Given the description of an element on the screen output the (x, y) to click on. 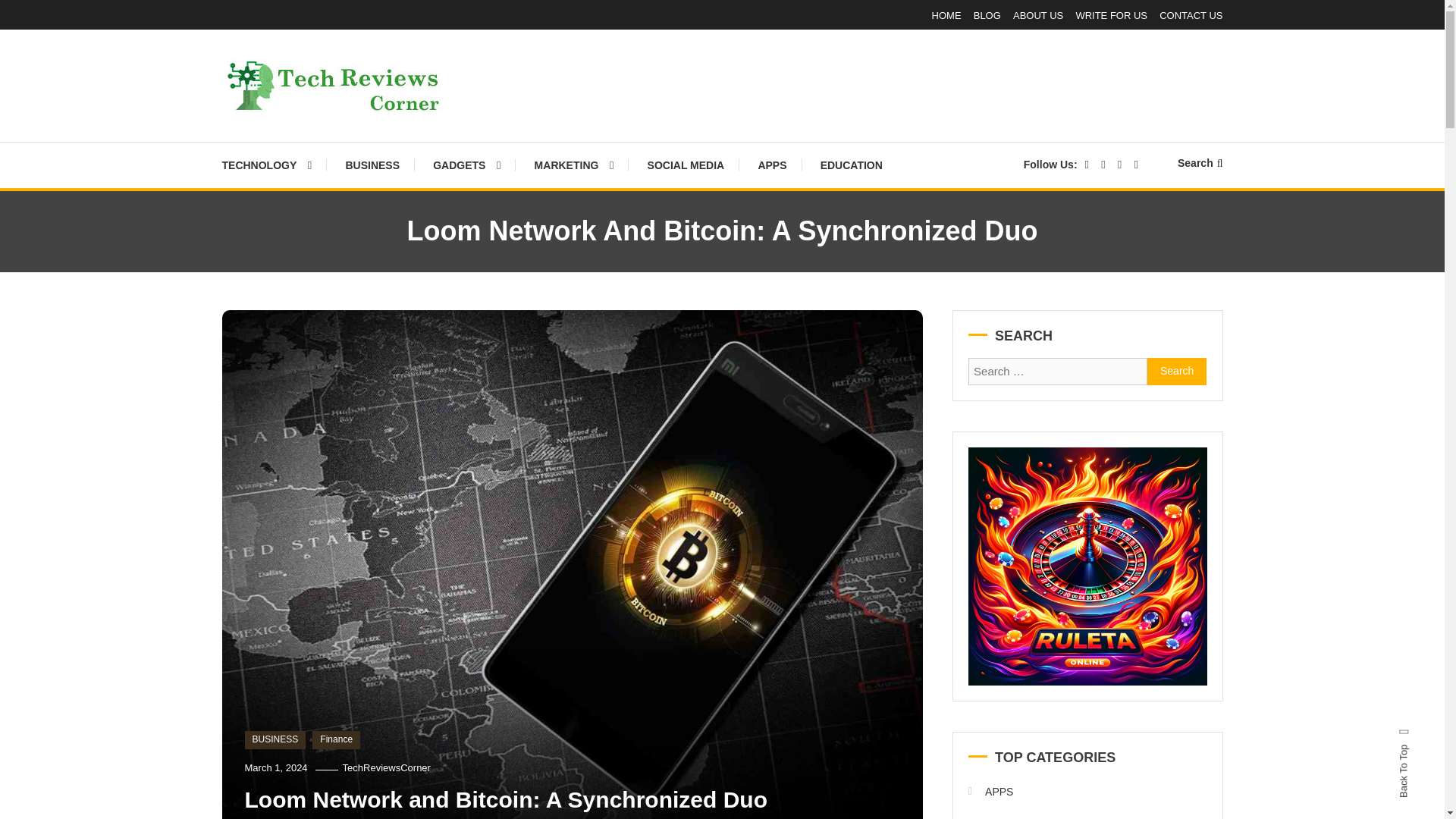
TechReviewsCorner (351, 132)
Search (1200, 162)
TECHNOLOGY (273, 165)
EDUCATION (851, 165)
MARKETING (573, 165)
BUSINESS (372, 165)
BLOG (987, 15)
APPS (772, 165)
Search (1177, 370)
WRITE FOR US (1111, 15)
